Given the description of an element on the screen output the (x, y) to click on. 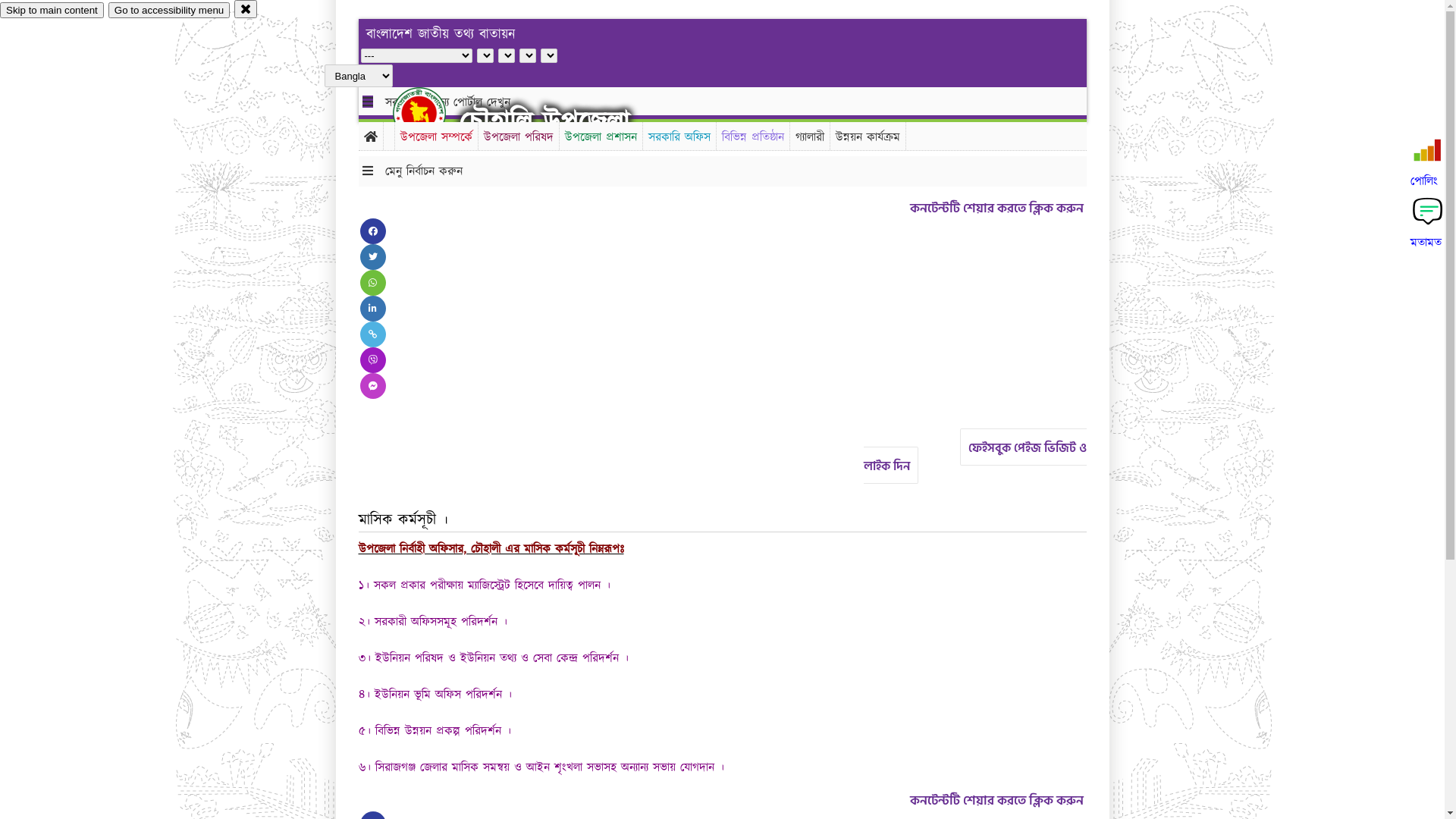
Skip to main content Element type: text (51, 10)
Go to accessibility menu Element type: text (168, 10)

                
             Element type: hover (431, 112)
close Element type: hover (245, 9)
